Given the description of an element on the screen output the (x, y) to click on. 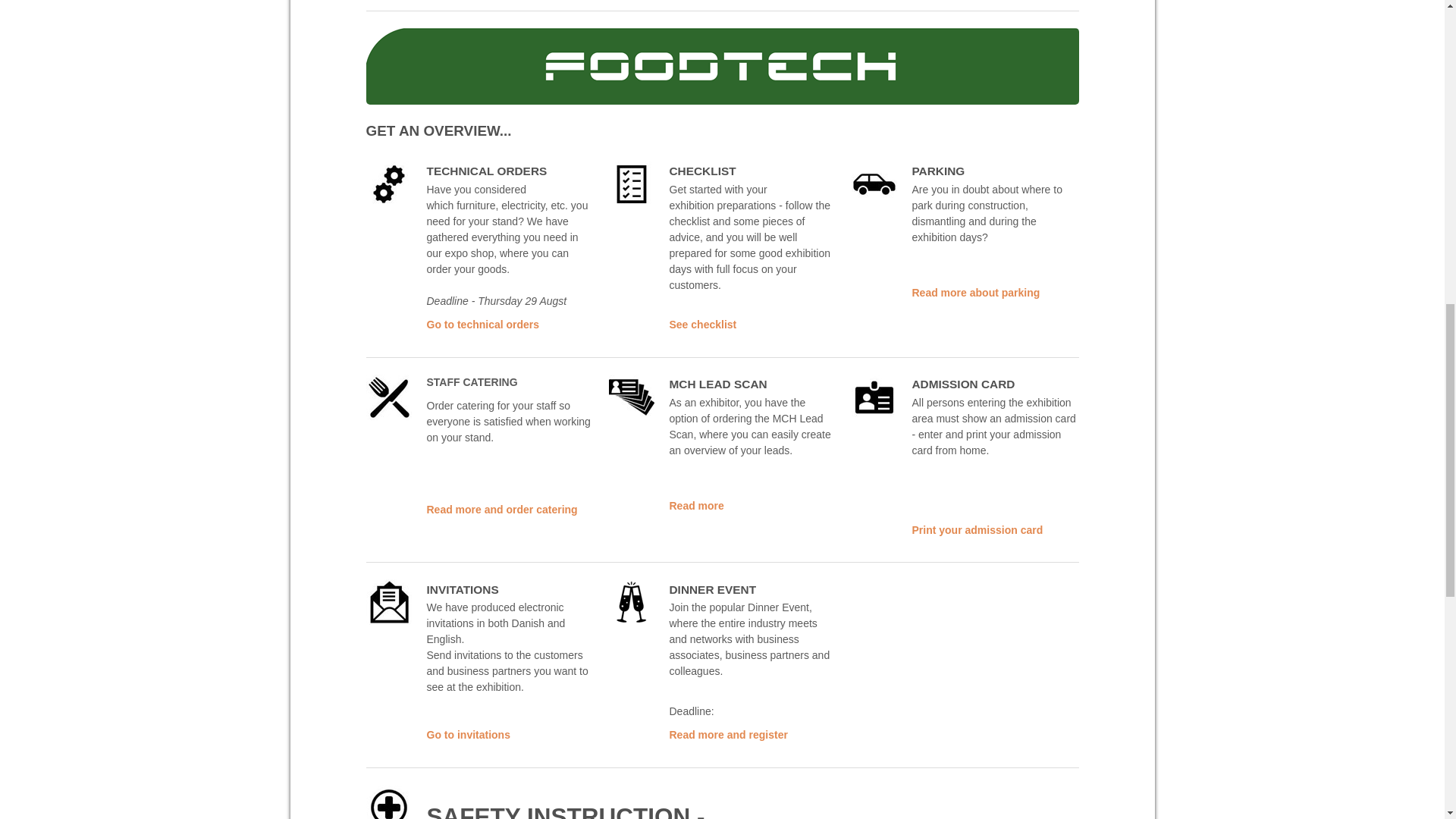
Go to invitations (467, 734)
Read more about parking (975, 292)
Read more (695, 505)
Print your admission card (976, 530)
Read more and register (727, 734)
Go to technical orders (482, 324)
Read more and order catering (501, 509)
See checklist (702, 324)
